Given the description of an element on the screen output the (x, y) to click on. 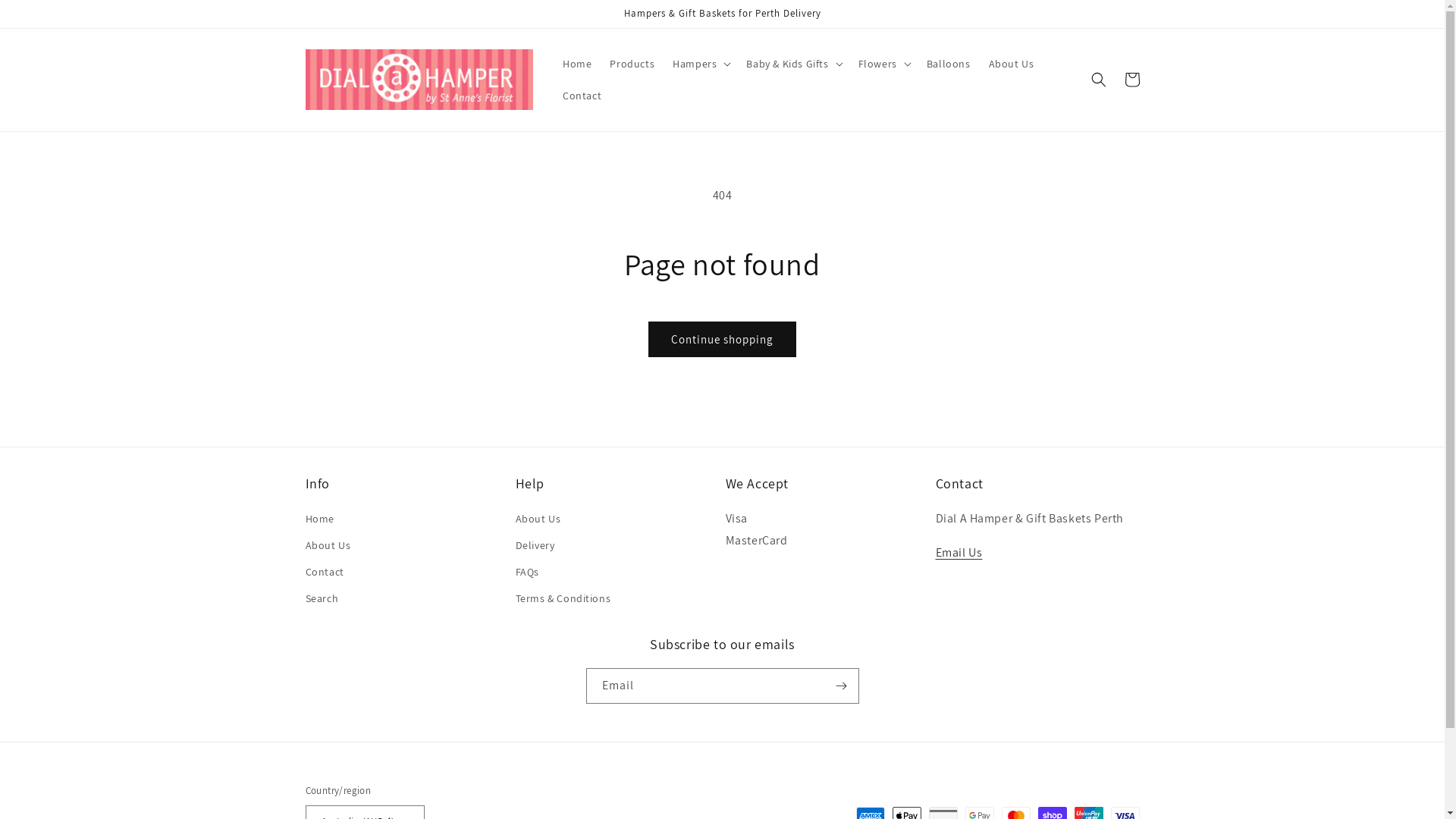
About Us Element type: text (538, 520)
Email Us Element type: text (958, 552)
Delivery Element type: text (535, 545)
Home Element type: text (318, 520)
FAQs Element type: text (527, 571)
Contact Element type: text (323, 571)
Cart Element type: text (1131, 79)
About Us Element type: text (1011, 63)
Contact Element type: text (581, 95)
Balloons Element type: text (948, 63)
About Us Element type: text (327, 545)
Products Element type: text (631, 63)
Continue shopping Element type: text (722, 339)
Search Element type: text (321, 598)
Home Element type: text (576, 63)
Terms & Conditions Element type: text (563, 598)
